Given the description of an element on the screen output the (x, y) to click on. 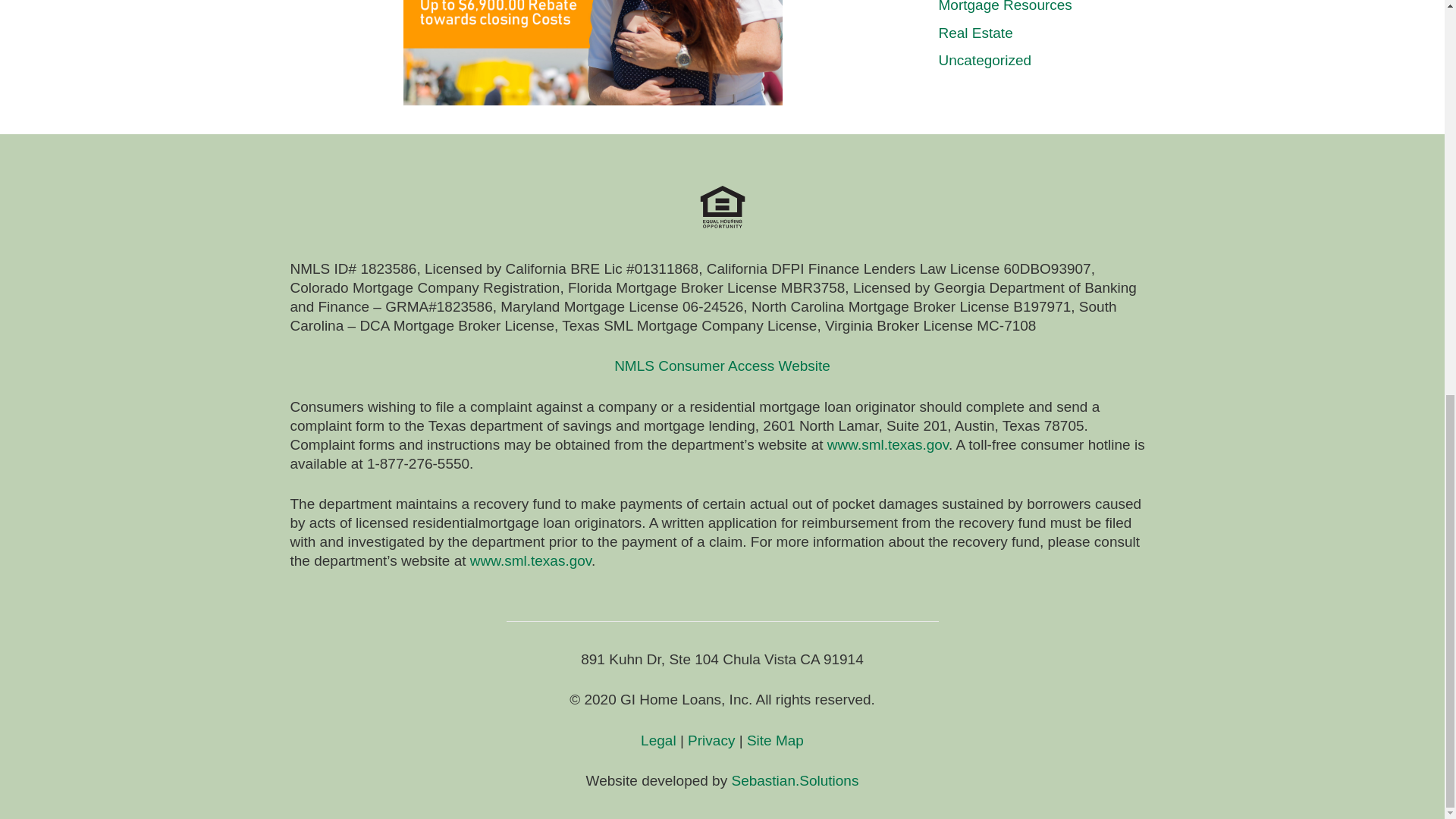
Back to top (1413, 97)
